Given the description of an element on the screen output the (x, y) to click on. 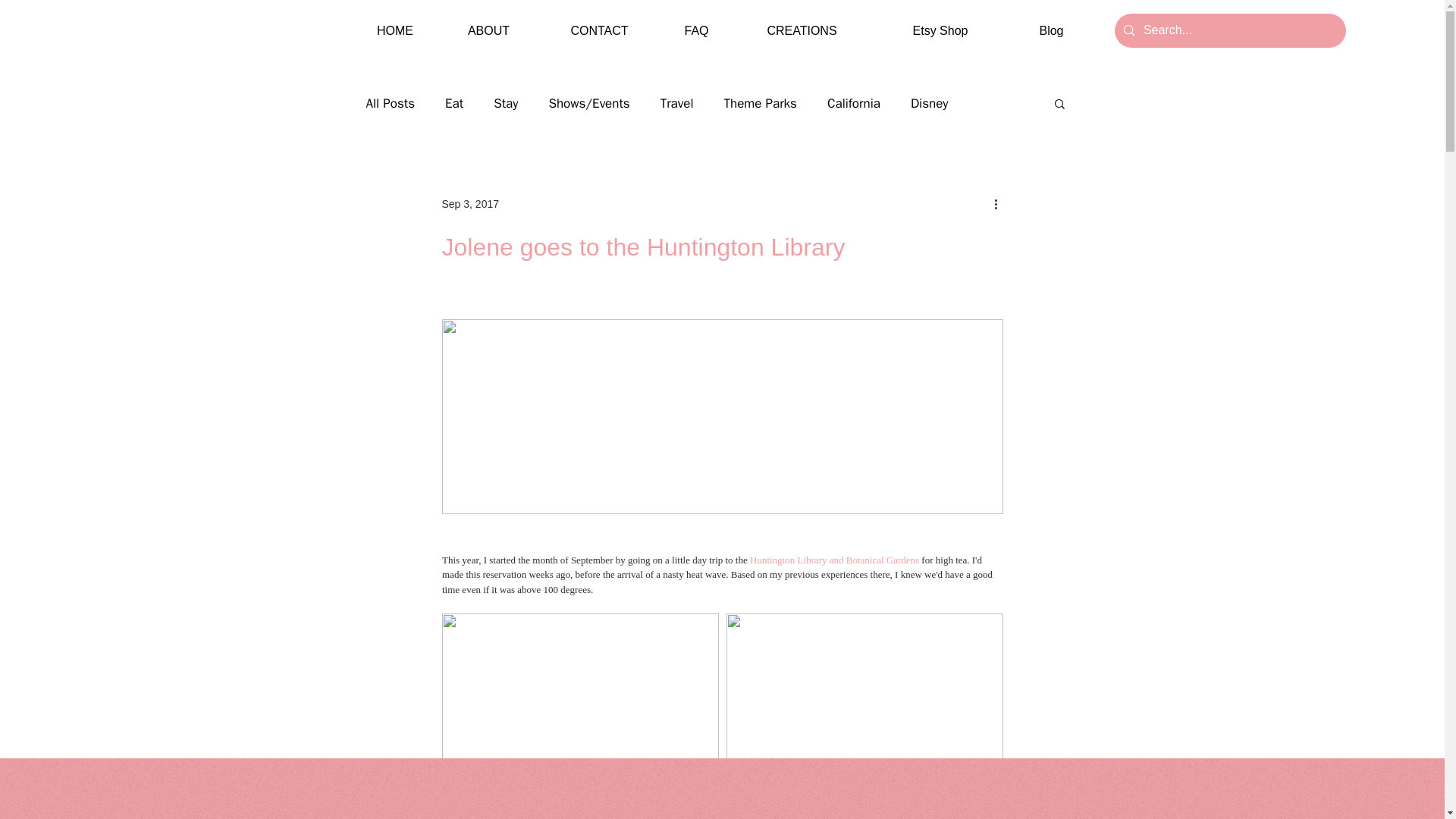
Disney (930, 102)
All Posts (389, 102)
CONTACT (599, 30)
Stay (505, 102)
Sep 3, 2017 (470, 203)
CREATIONS (802, 30)
Eat (454, 102)
Travel (677, 102)
HOME (394, 30)
ABOUT (488, 30)
Huntington Library and Botanical Gardens (833, 559)
Blog (1051, 30)
Theme Parks (759, 102)
FAQ (696, 30)
California (853, 102)
